Given the description of an element on the screen output the (x, y) to click on. 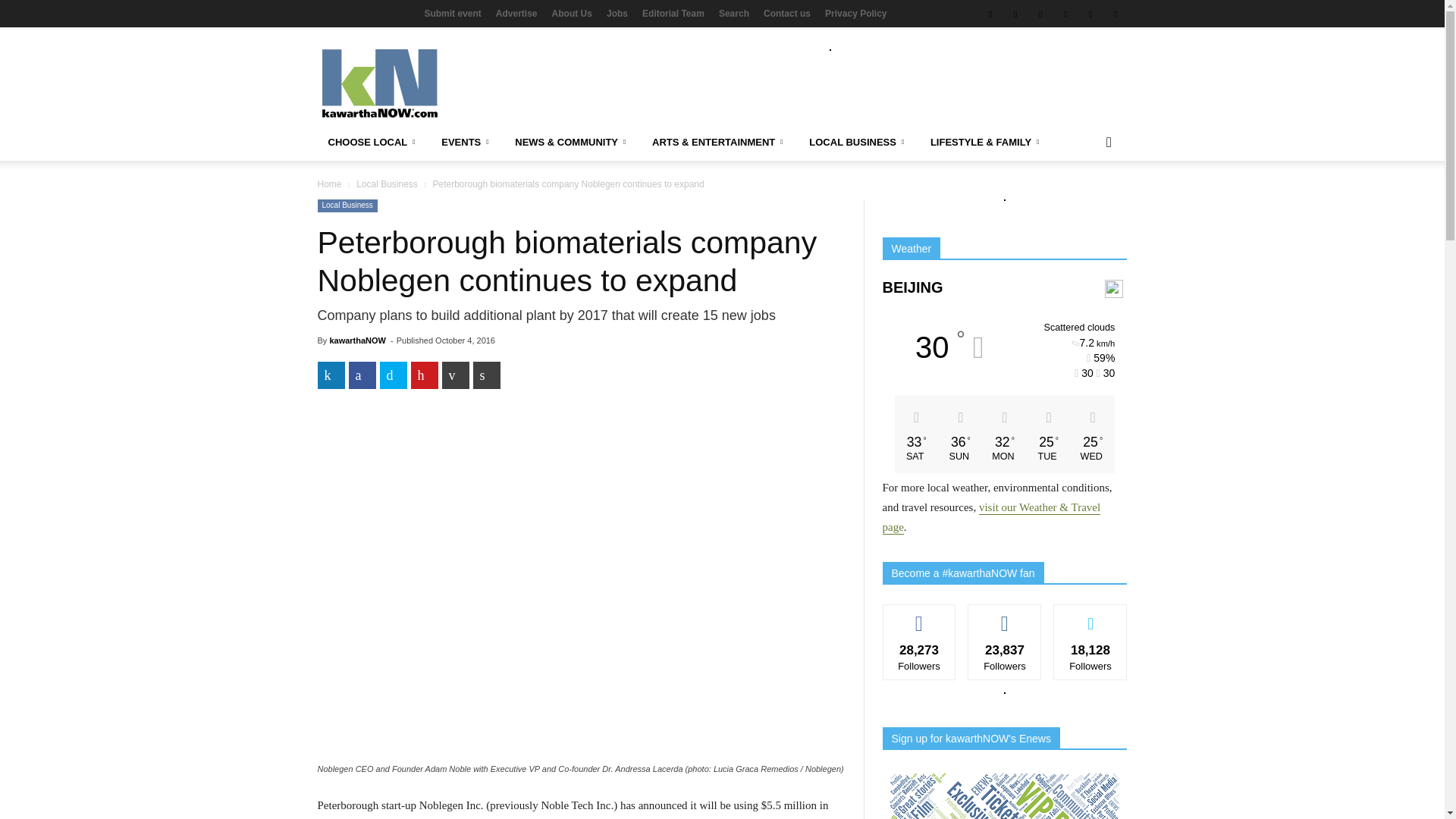
Search (734, 13)
RSS (1114, 13)
Instagram (1015, 13)
Linkedin (1065, 13)
Contact us (786, 13)
Pinterest (1090, 13)
Editorial Team (673, 13)
Submit event (451, 13)
Privacy Policy (855, 13)
Facebook (989, 13)
About Us (571, 13)
Advertise (516, 13)
Twitter (1040, 13)
Jobs (617, 13)
kawarthaNOW.com (424, 83)
